Given the description of an element on the screen output the (x, y) to click on. 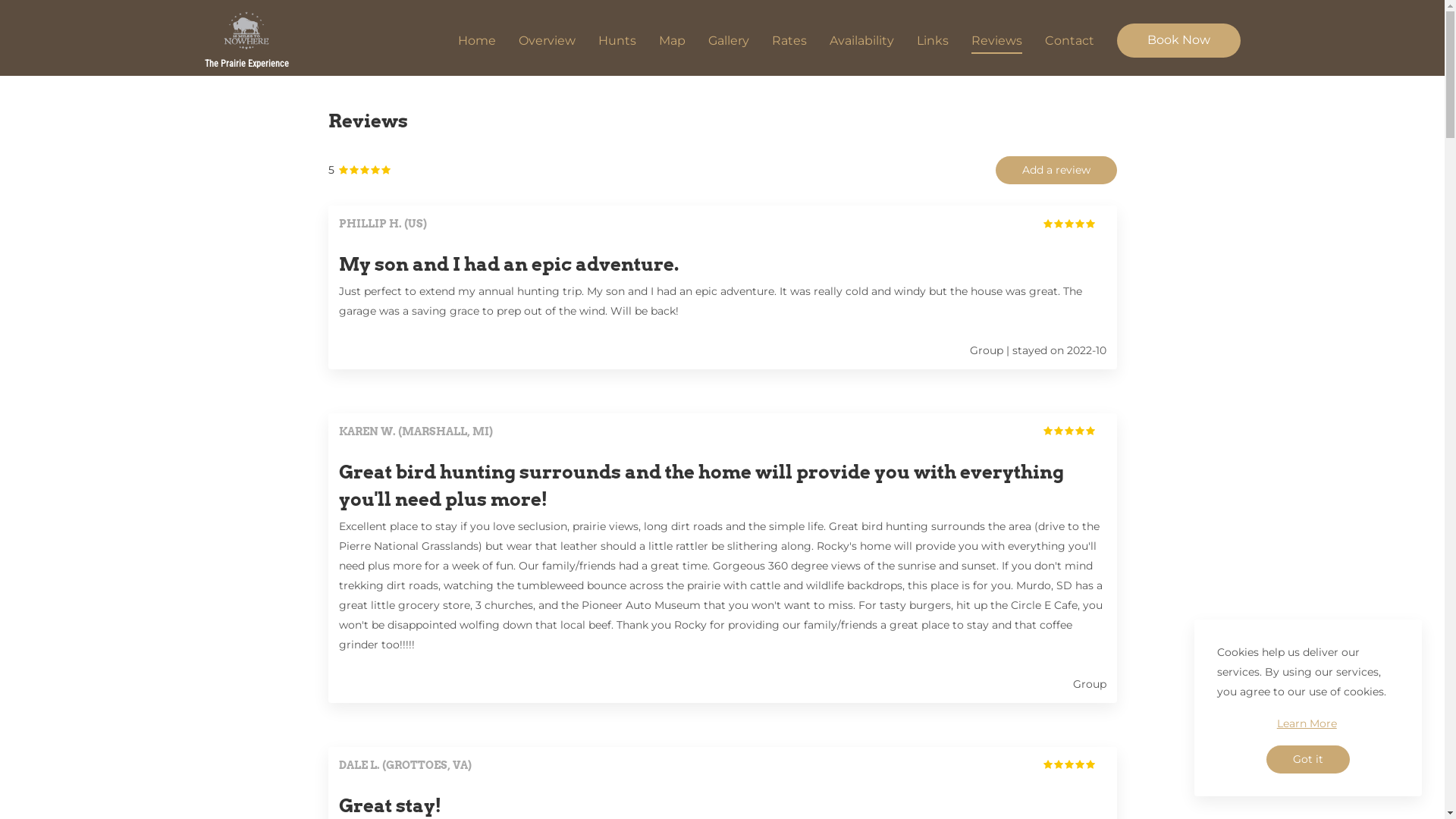
Gallery Element type: text (728, 39)
Links Element type: text (931, 39)
Image Title Element type: hover (246, 31)
Home Element type: text (476, 39)
Learn More Element type: text (1306, 723)
Overview Element type: text (546, 39)
Availability Element type: text (861, 39)
Got it Element type: text (1307, 759)
Add a review Element type: text (1055, 170)
Book Now Element type: text (1177, 40)
Reviews Element type: text (995, 39)
Rates Element type: text (788, 39)
Contact Element type: text (1069, 39)
Map Element type: text (671, 39)
The Prairie Experience Element type: text (246, 40)
Hunts Element type: text (616, 39)
